Given the description of an element on the screen output the (x, y) to click on. 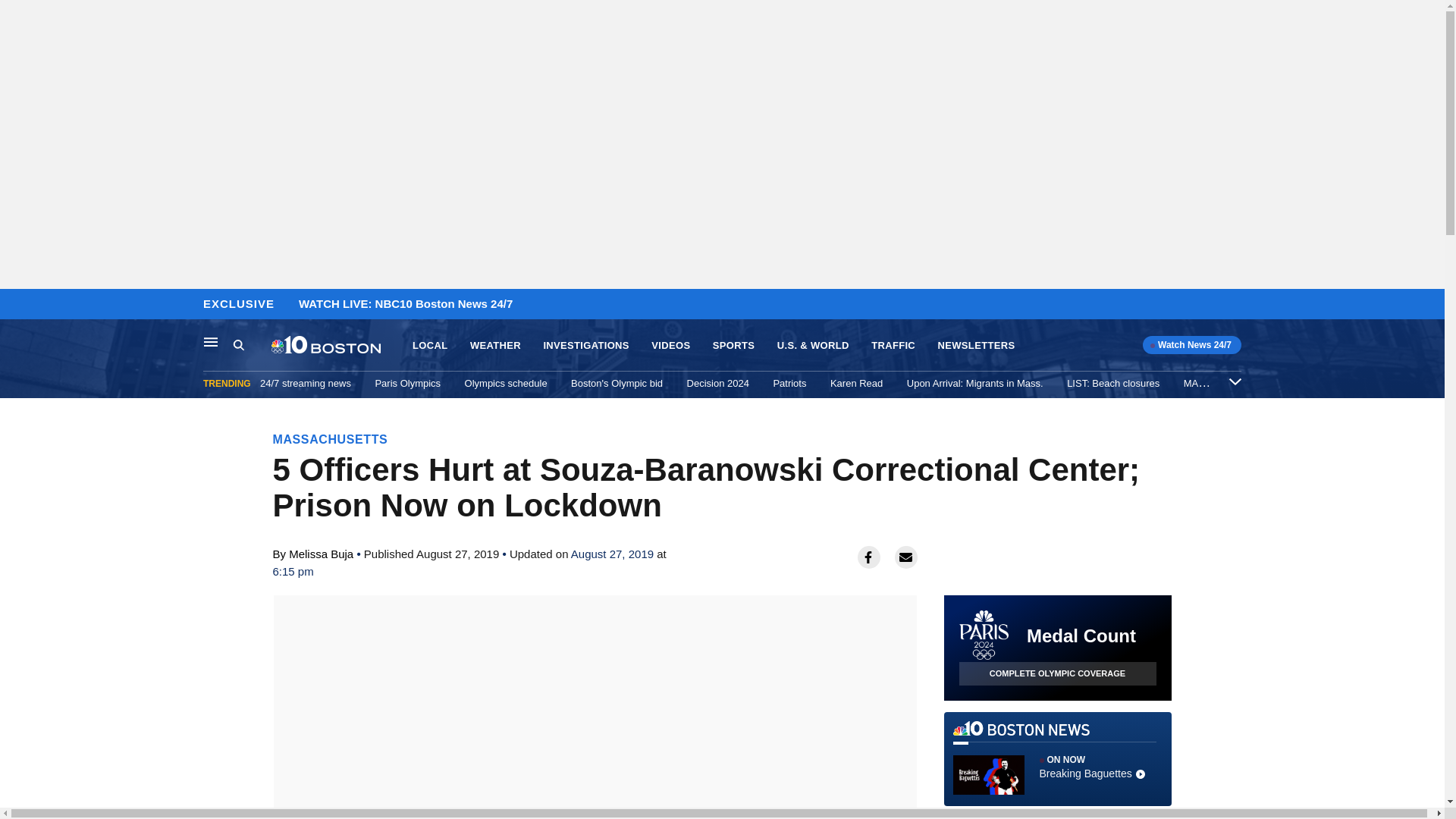
Boston's Olympic bid (616, 383)
Upon Arrival: Migrants in Mass. (975, 383)
Skip to content (16, 304)
Karen Read (855, 383)
Main Navigation (210, 341)
INVESTIGATIONS (585, 345)
LIST: Beach closures (1112, 383)
MASSACHUSETTS (330, 439)
Olympics schedule (505, 383)
TRAFFIC (892, 345)
Expand (1234, 381)
NEWSLETTERS (975, 345)
Patriots (789, 383)
MAP: Shark sightings (1230, 383)
WEATHER (495, 345)
